Given the description of an element on the screen output the (x, y) to click on. 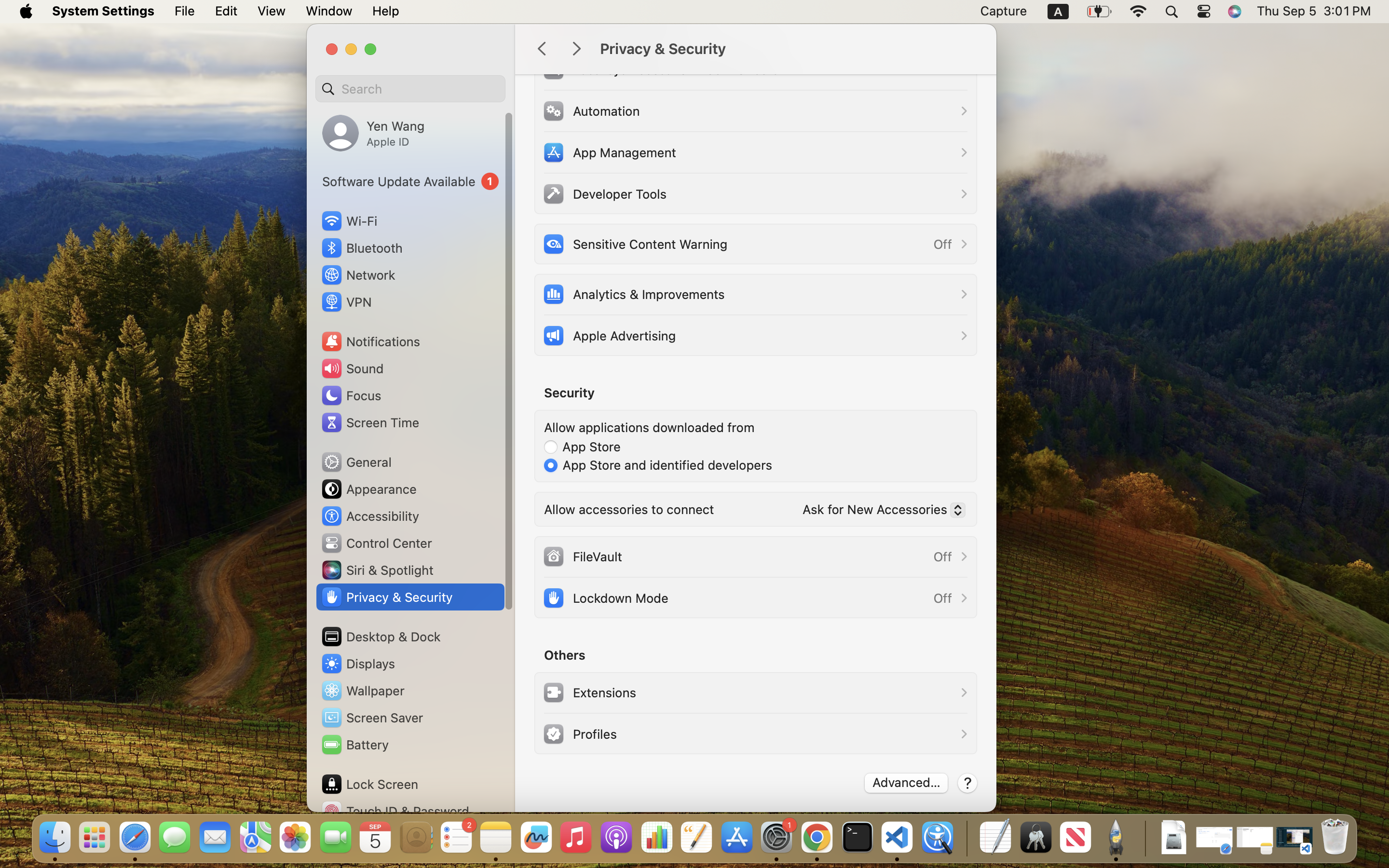
Battery Element type: AXStaticText (354, 744)
Lock Screen Element type: AXStaticText (369, 783)
Desktop & Dock Element type: AXStaticText (380, 636)
Privacy & Security Element type: AXStaticText (788, 49)
